Given the description of an element on the screen output the (x, y) to click on. 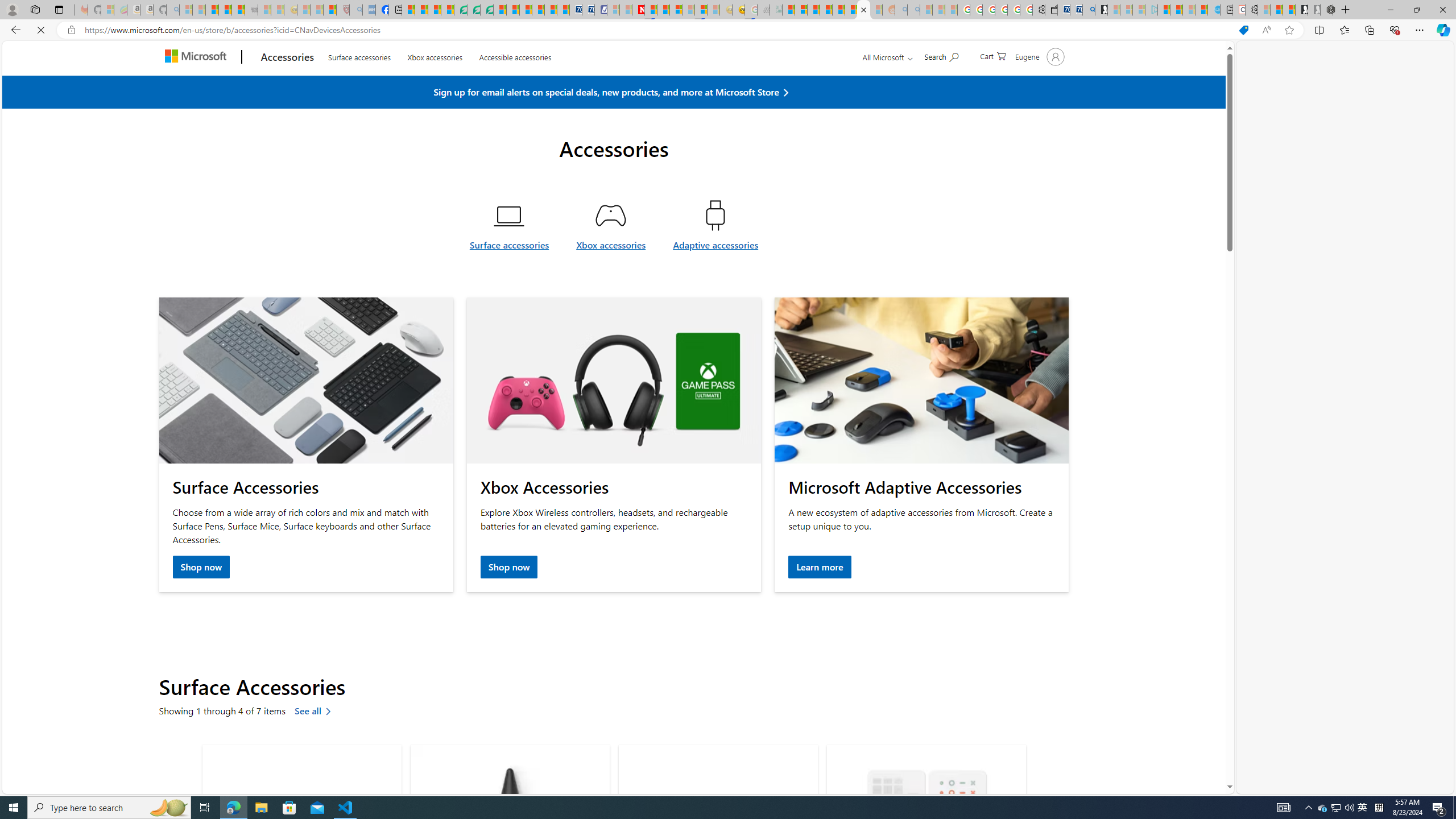
LendingTree - Compare Lenders (460, 9)
Local - MSN (329, 9)
Shop now Xbox Accessories (509, 567)
Search Microsoft.com (940, 82)
